Given the description of an element on the screen output the (x, y) to click on. 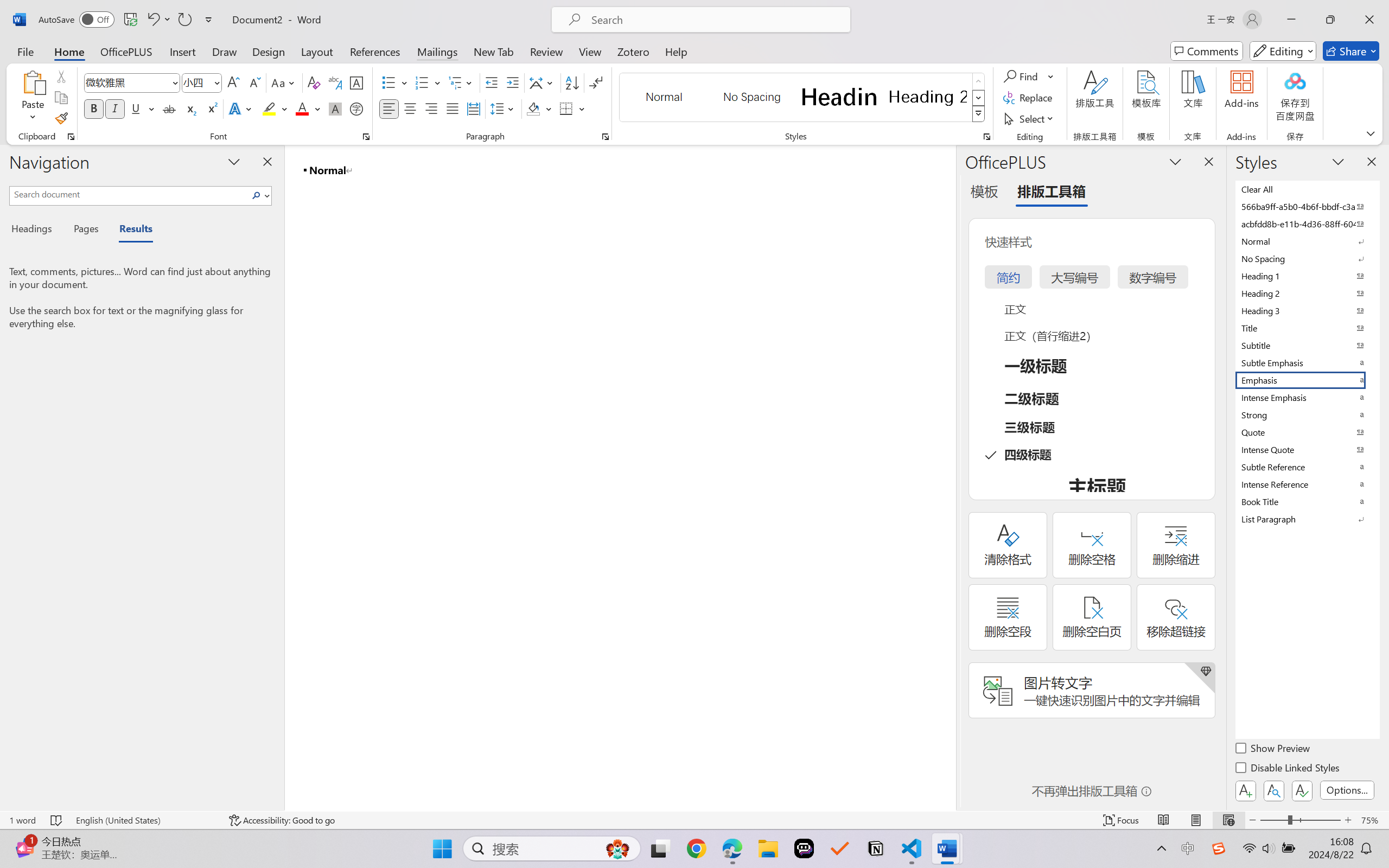
Replace... (1029, 97)
Close (1369, 19)
Superscript (210, 108)
Open (215, 82)
Font Size (196, 82)
Multilevel List (461, 82)
References (375, 51)
Insert (182, 51)
Customize Quick Access Toolbar (208, 19)
Cut (60, 75)
Underline (135, 108)
Align Left (388, 108)
